Given the description of an element on the screen output the (x, y) to click on. 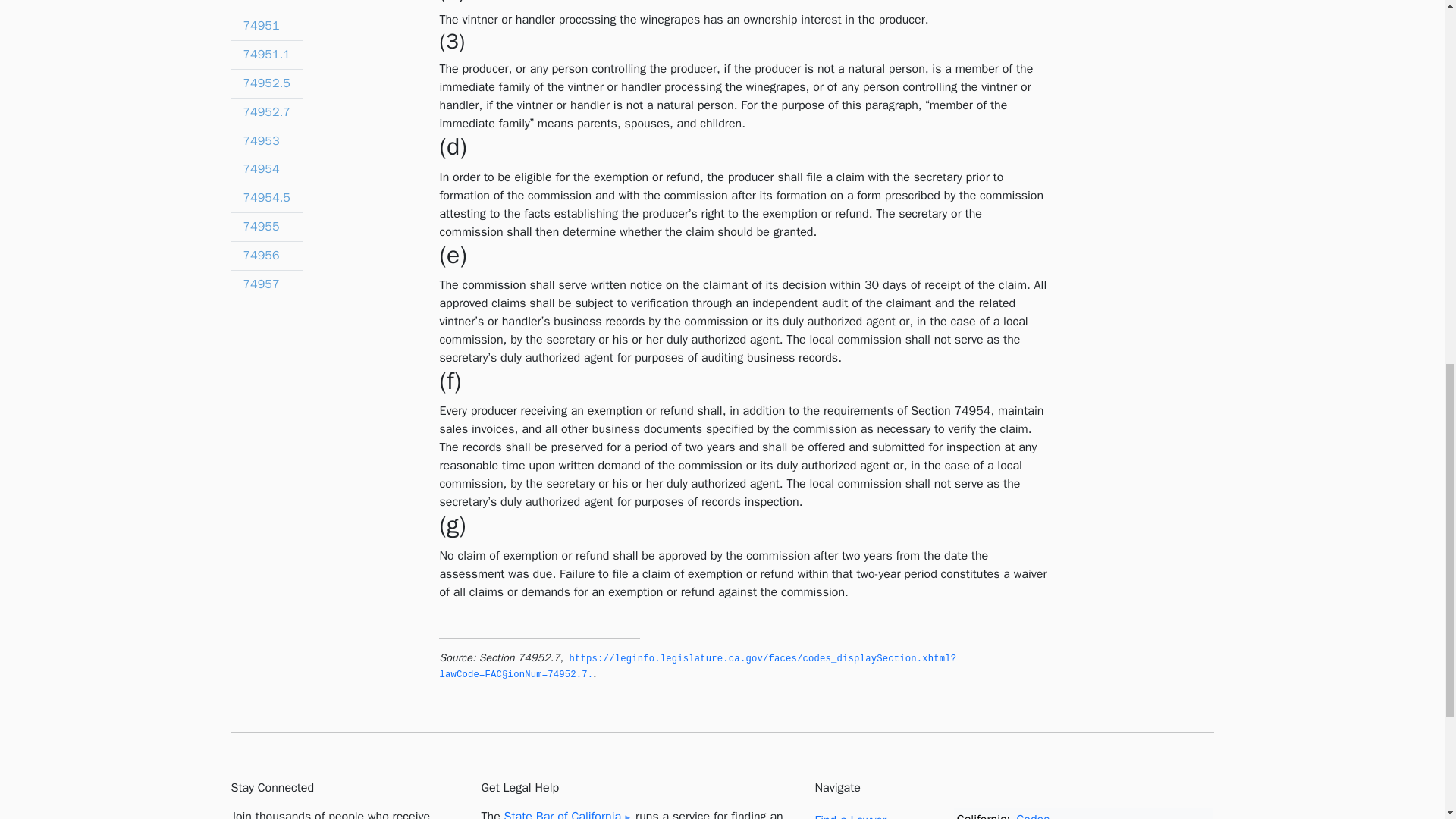
State Bar of California (567, 814)
Find a Lawyer (849, 816)
Advertisement (1138, 167)
Codes (1032, 815)
